Given the description of an element on the screen output the (x, y) to click on. 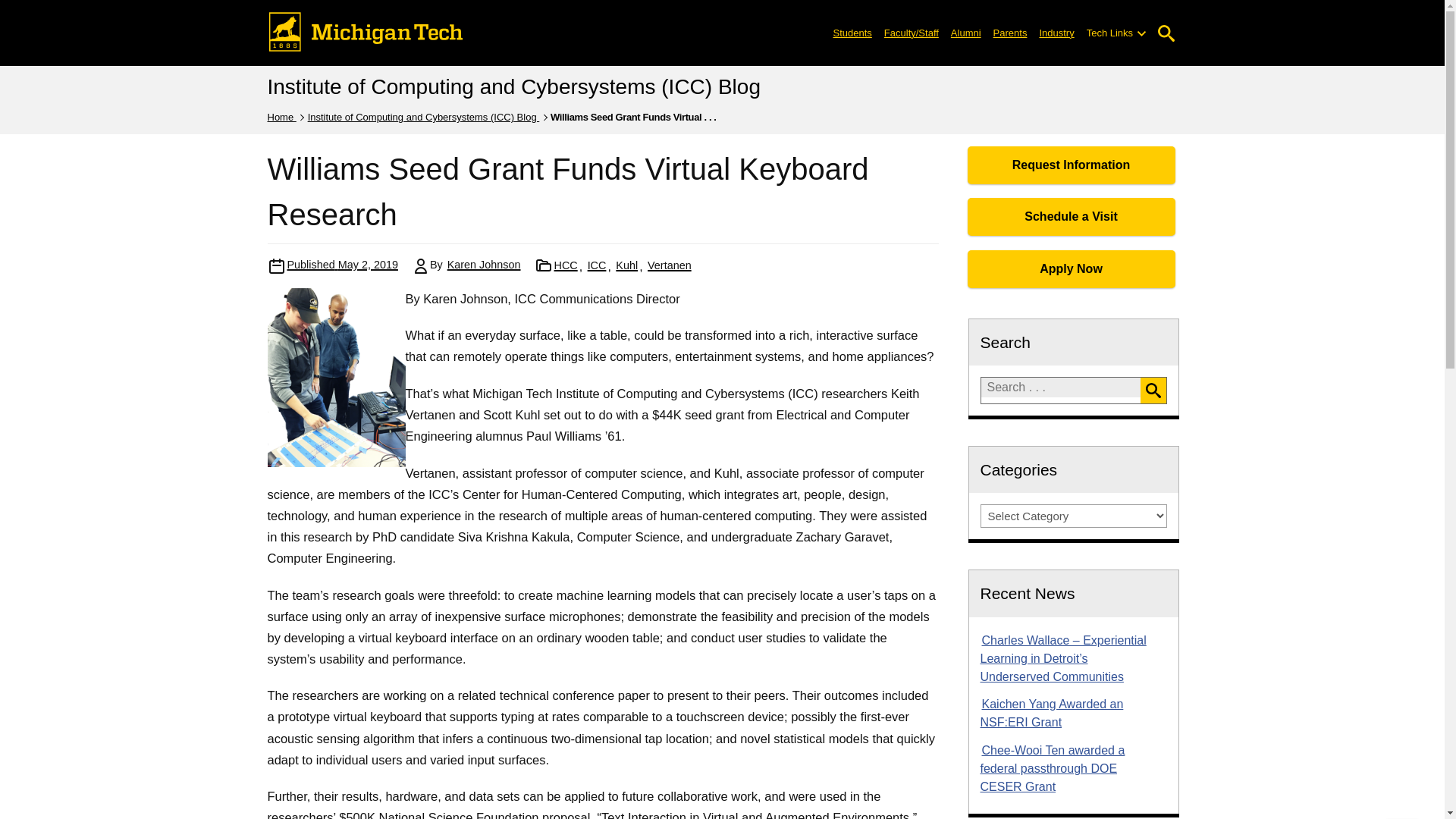
Students (852, 32)
Published May 2, 2019 (341, 265)
Karen Johnson (483, 264)
Alumni (965, 32)
Parents (1010, 32)
Industry (1056, 32)
Open Search (1166, 33)
Home (280, 116)
